Given the description of an element on the screen output the (x, y) to click on. 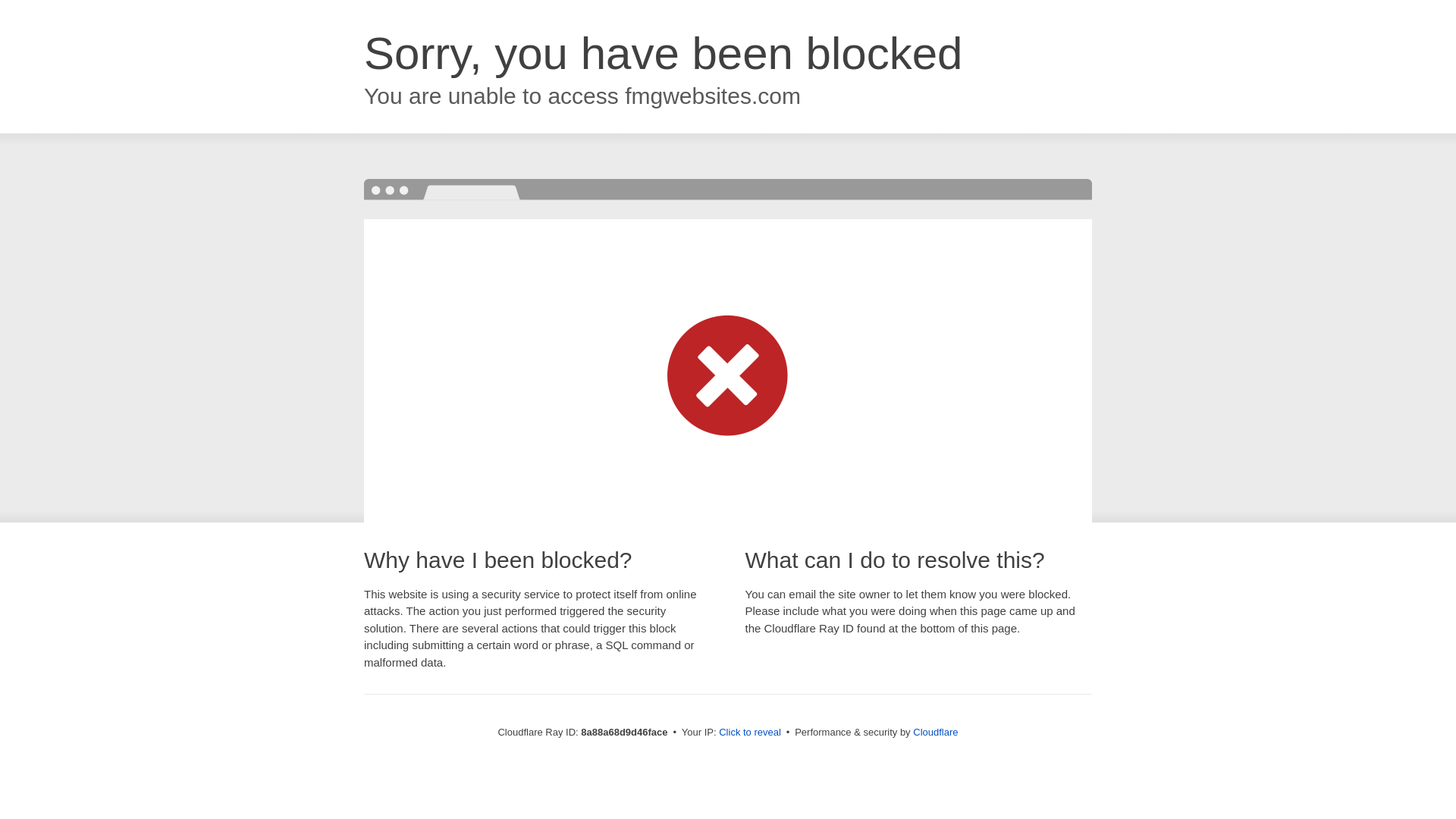
Cloudflare (935, 731)
Click to reveal (749, 732)
